Given the description of an element on the screen output the (x, y) to click on. 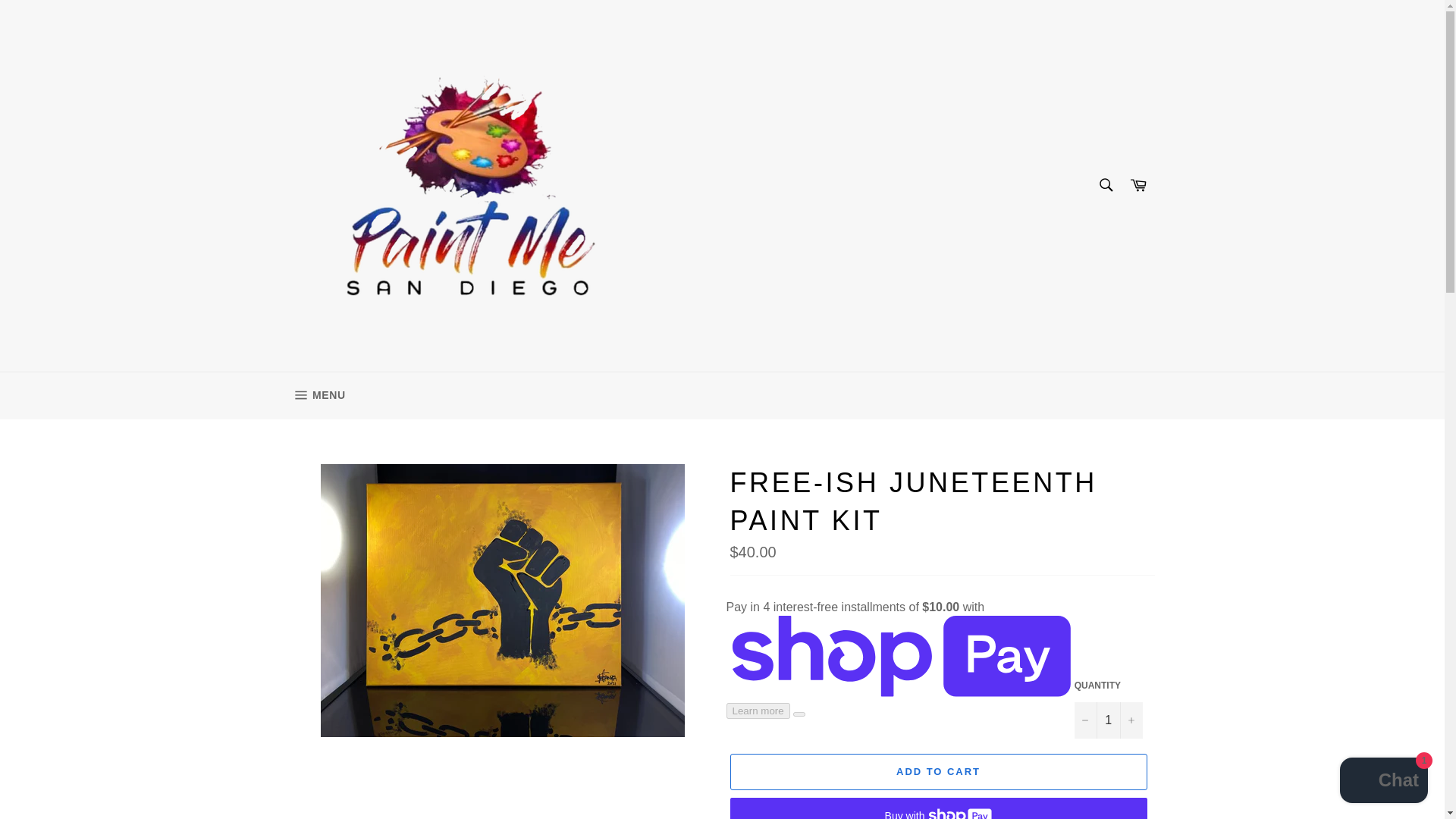
Shopify online store chat (1383, 781)
1 (1108, 719)
Cart (1138, 185)
Search (317, 395)
